Given the description of an element on the screen output the (x, y) to click on. 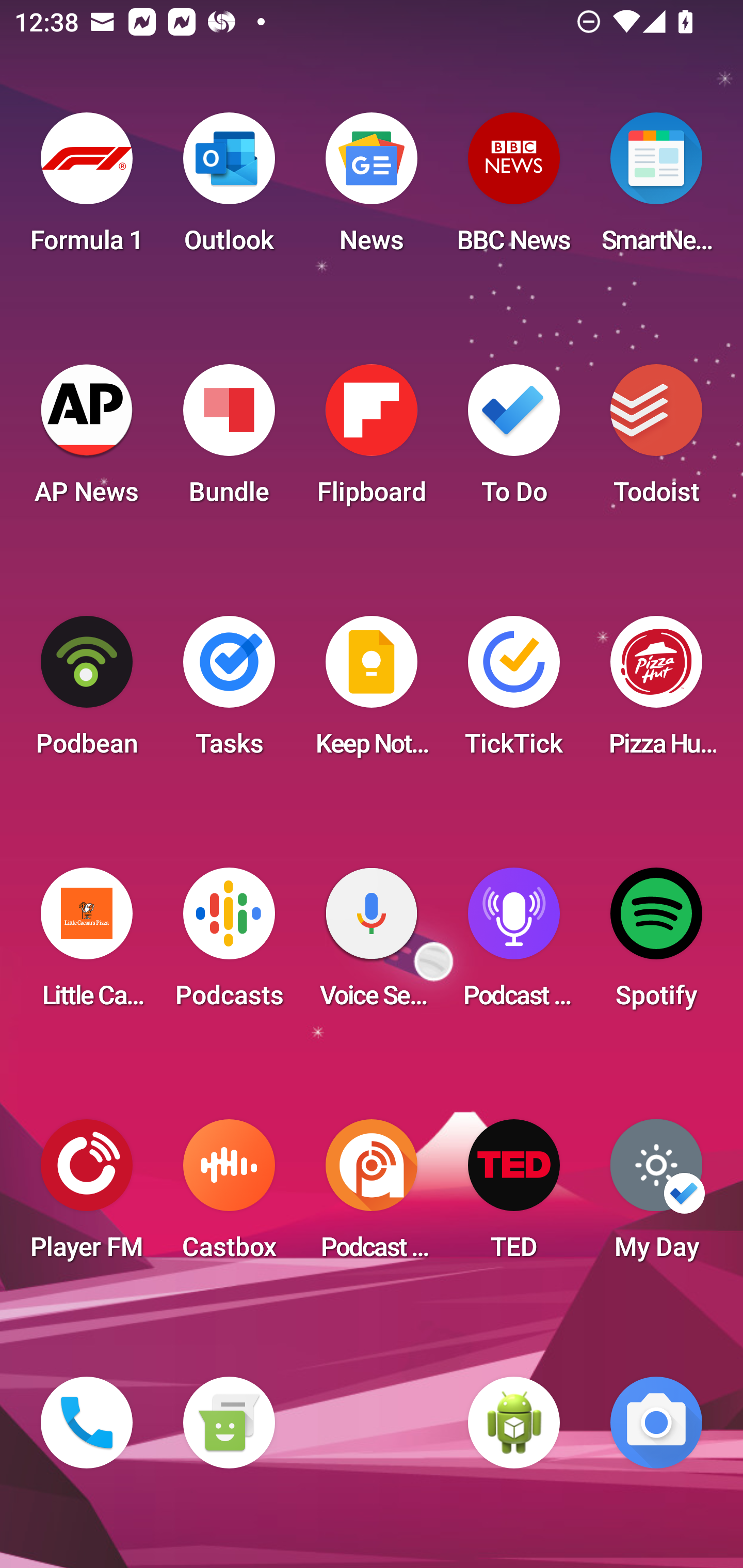
Formula 1 (86, 188)
Outlook (228, 188)
News (371, 188)
BBC News (513, 188)
SmartNews (656, 188)
AP News (86, 440)
Bundle (228, 440)
Flipboard (371, 440)
To Do (513, 440)
Todoist (656, 440)
Podbean (86, 692)
Tasks (228, 692)
Keep Notes (371, 692)
TickTick (513, 692)
Pizza Hut HK & Macau (656, 692)
Little Caesars Pizza (86, 943)
Podcasts (228, 943)
Voice Search (371, 943)
Podcast Player (513, 943)
Spotify (656, 943)
Player FM (86, 1195)
Castbox (228, 1195)
Podcast Addict (371, 1195)
TED (513, 1195)
My Day (656, 1195)
Phone (86, 1422)
Messaging (228, 1422)
WebView Browser Tester (513, 1422)
Camera (656, 1422)
